Given the description of an element on the screen output the (x, y) to click on. 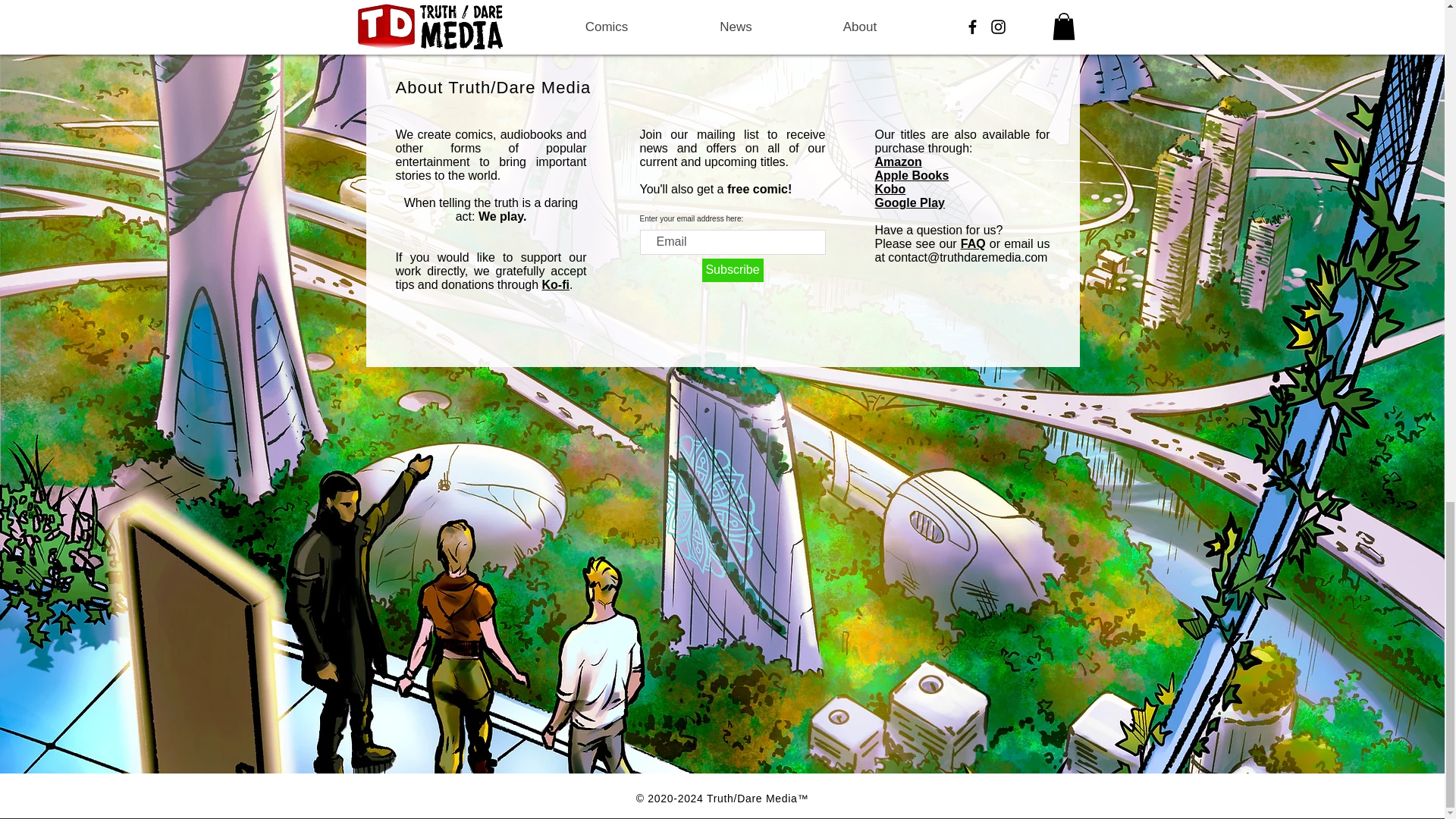
Google Play (909, 202)
Kobo (890, 188)
Apple Books (912, 174)
Ko-fi (555, 284)
Subscribe (731, 269)
FAQ (972, 243)
Amazon (898, 161)
